Given the description of an element on the screen output the (x, y) to click on. 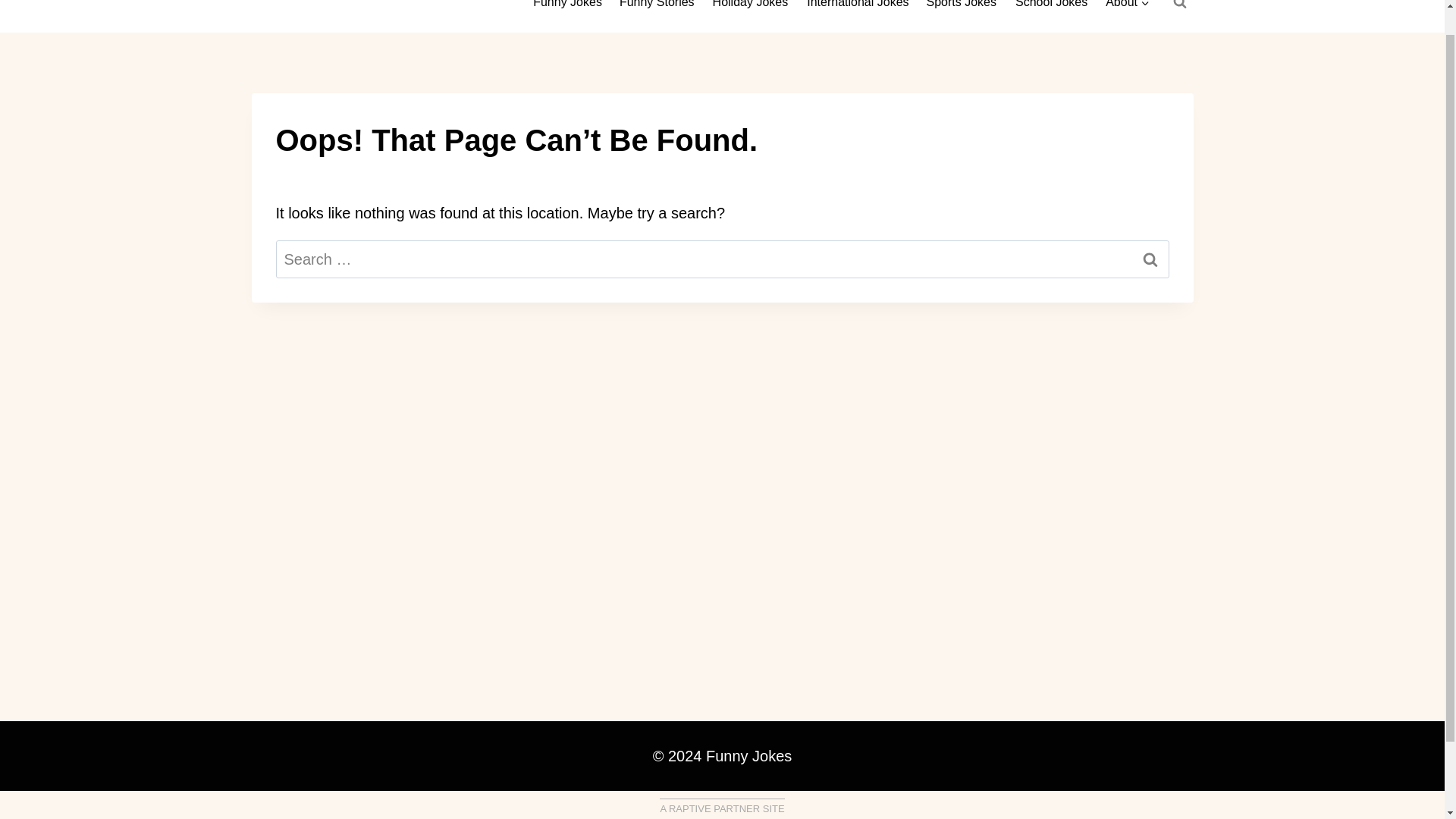
Funny Jokes (567, 9)
About (1127, 9)
Search (1150, 259)
Holiday Jokes (750, 9)
Funny Stories (656, 9)
School Jokes (1051, 9)
Sports Jokes (961, 9)
Search (1150, 259)
International Jokes (857, 9)
Search (1150, 259)
